Given the description of an element on the screen output the (x, y) to click on. 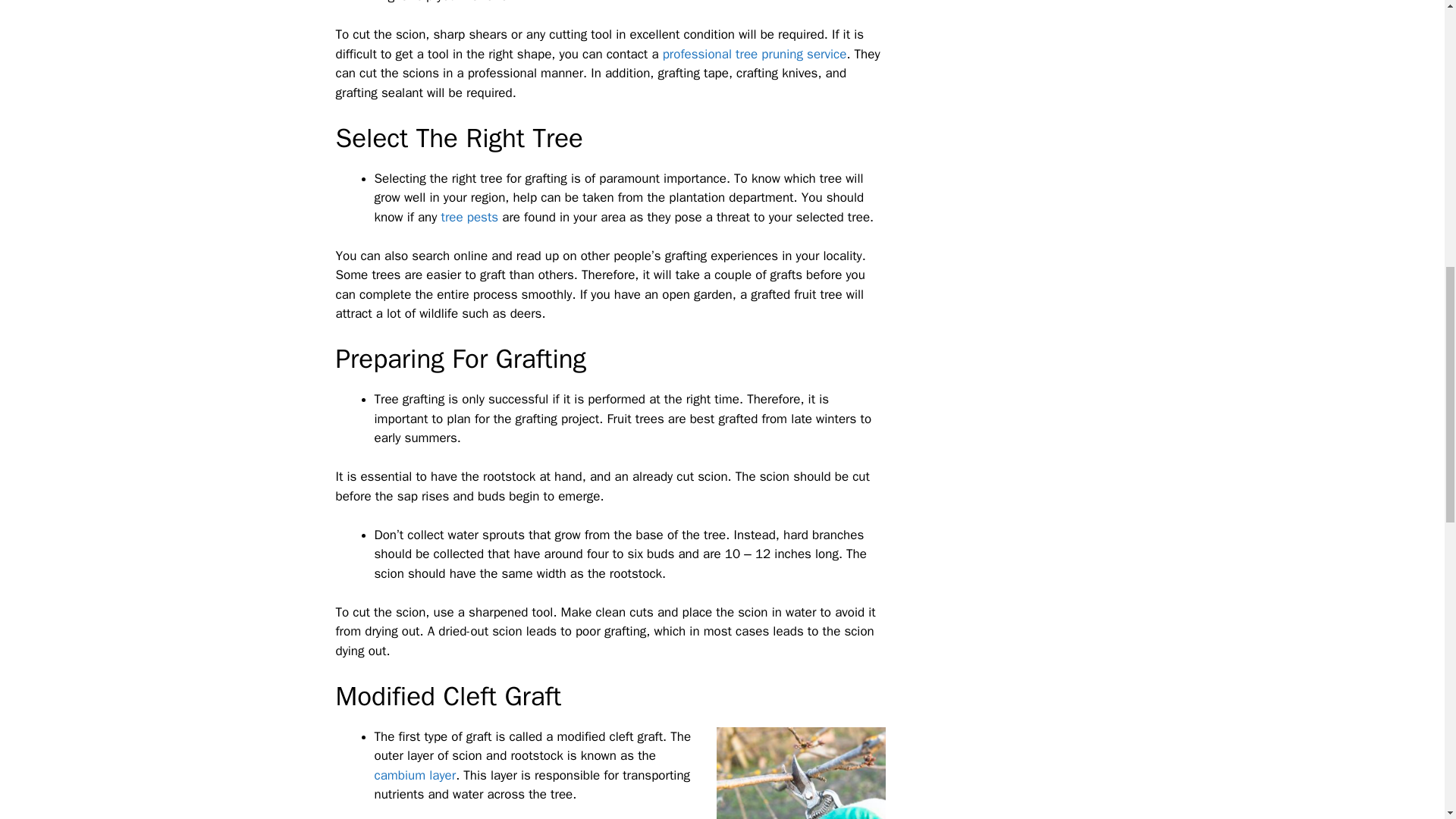
tree pests (469, 217)
cambium layer (415, 774)
professional tree pruning service (754, 53)
